Given the description of an element on the screen output the (x, y) to click on. 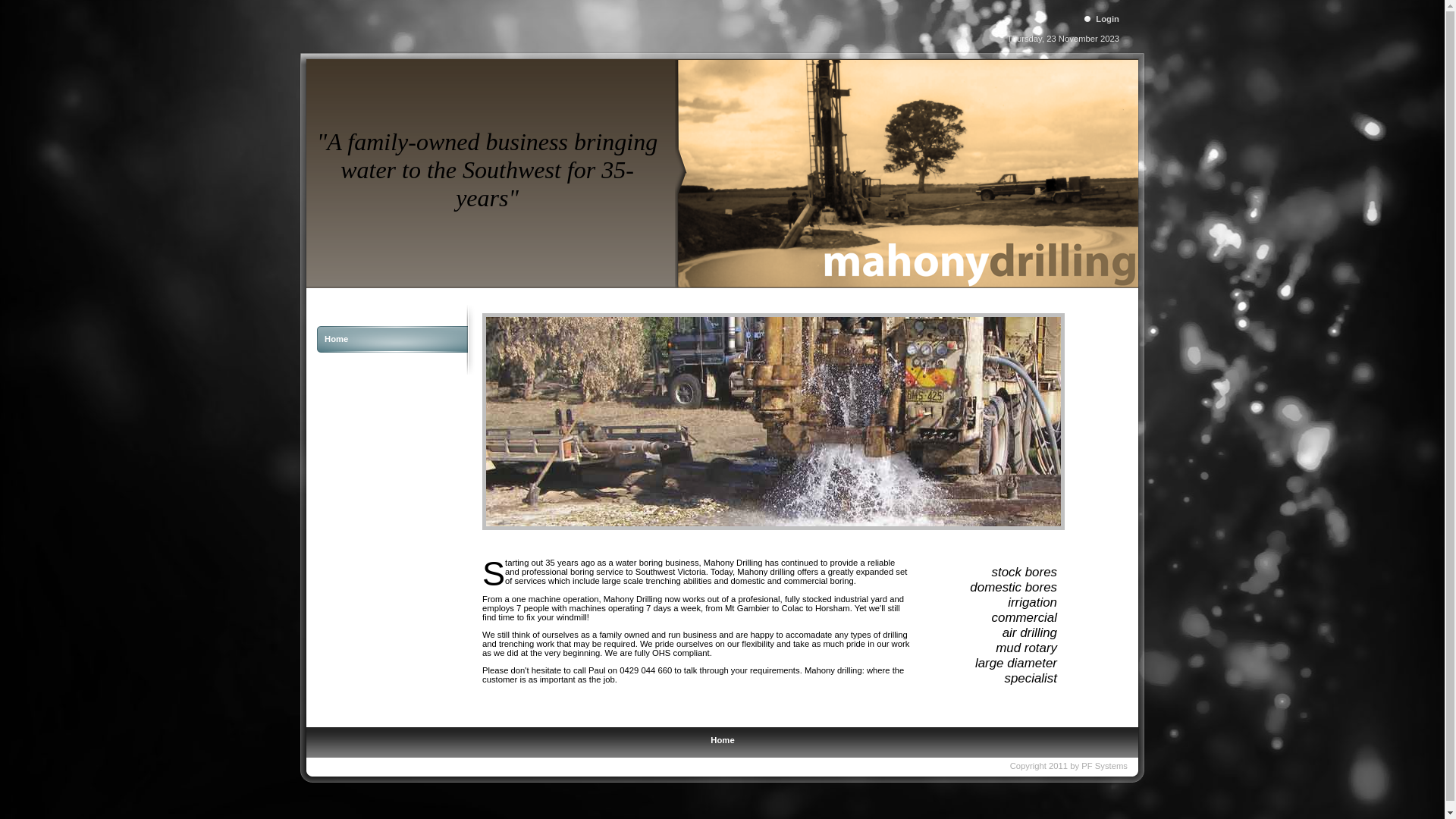
Login Element type: text (1097, 17)
Home Element type: text (336, 338)
Home Element type: text (722, 739)
